Given the description of an element on the screen output the (x, y) to click on. 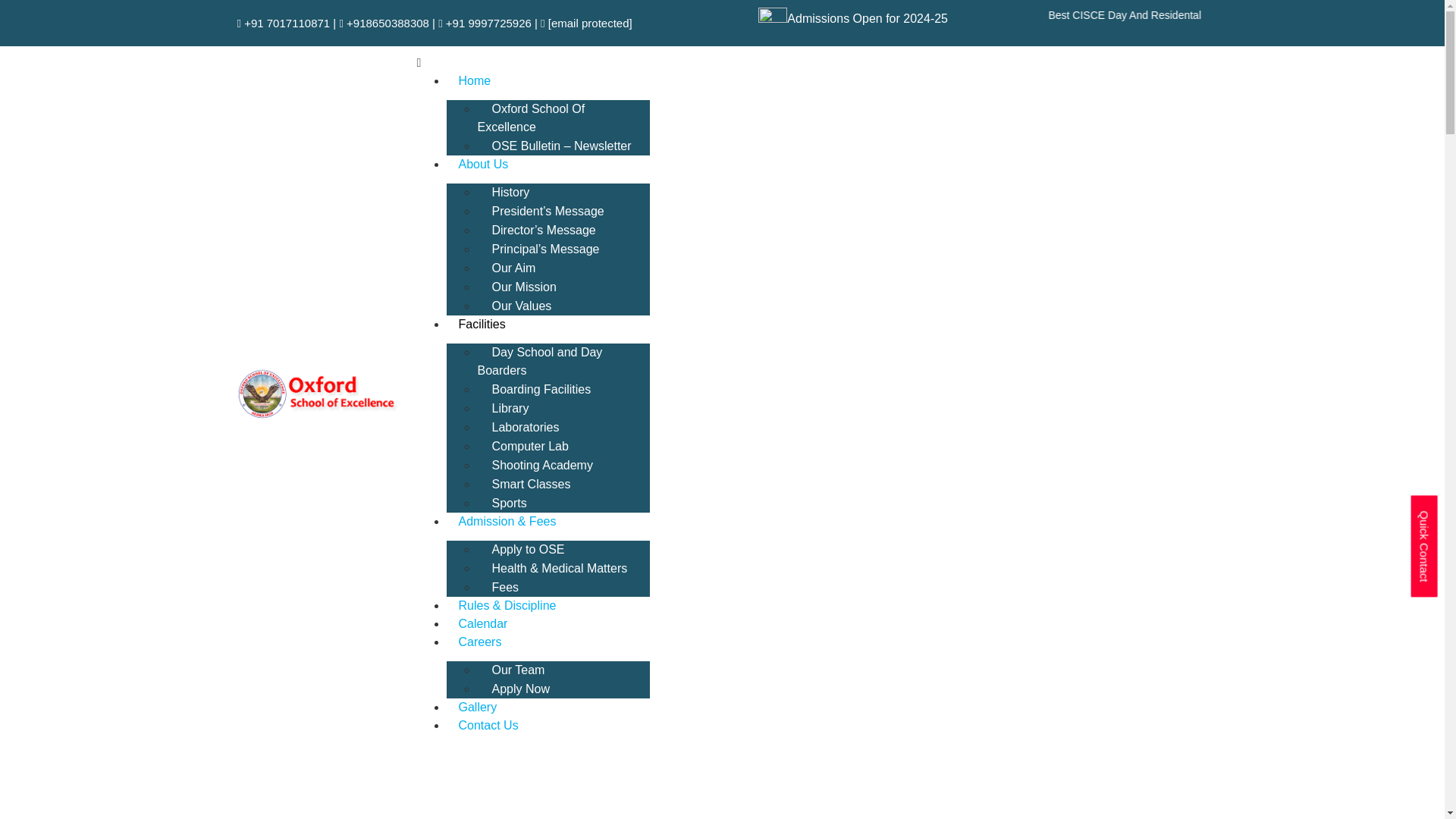
Contact Us (487, 725)
Admissions Open for 2024-25 (867, 18)
Home (474, 80)
Our Aim (513, 267)
Laboratories (525, 427)
Calendar (482, 623)
Fees (504, 587)
Apply to OSE (527, 549)
Boarding Facilities (541, 389)
Smart Classes (531, 483)
